Given the description of an element on the screen output the (x, y) to click on. 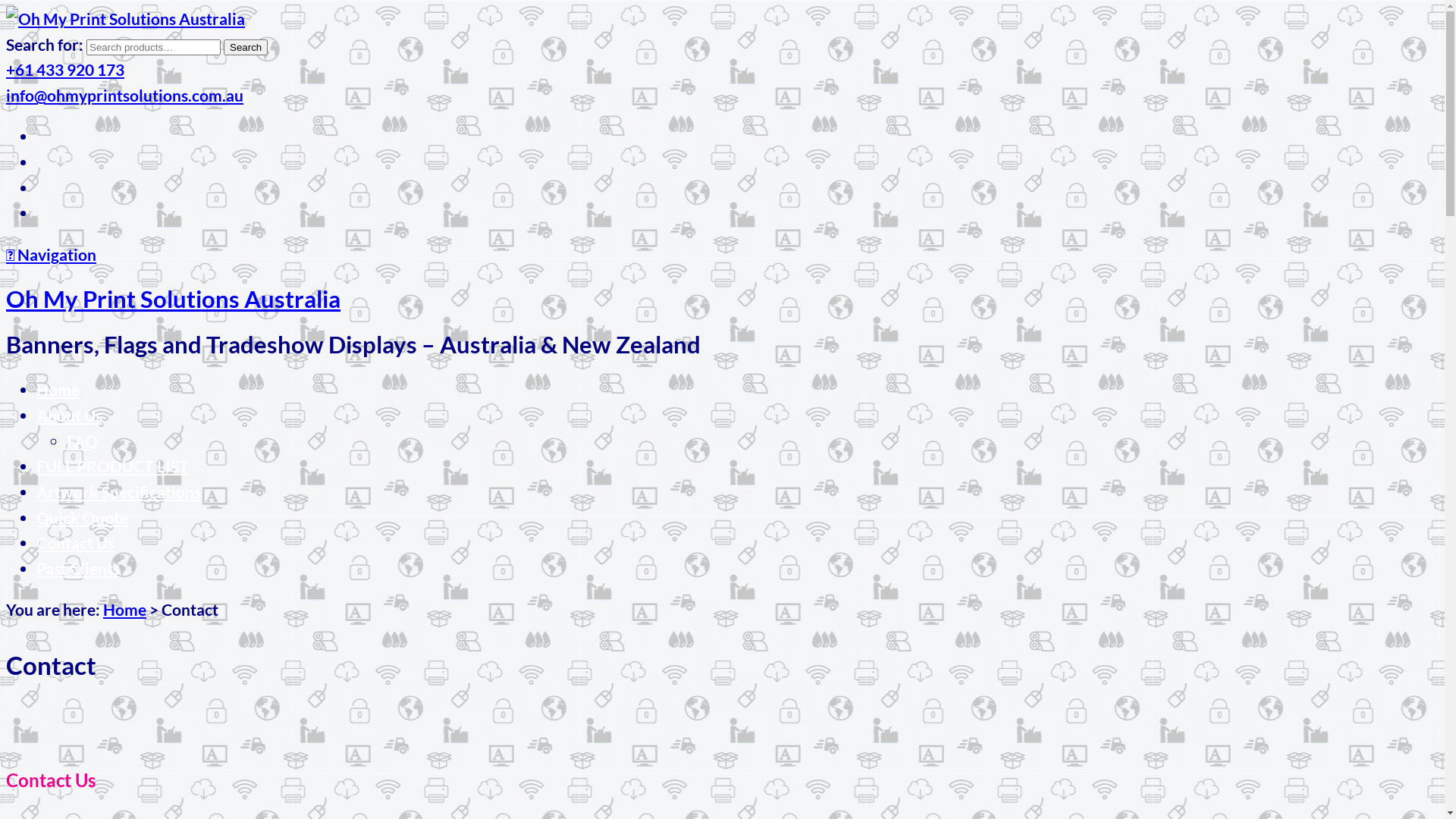
FULL PRODUCT LIST Element type: text (112, 465)
Artwork Specifications Element type: text (118, 491)
Contact Us Element type: text (75, 542)
+61 433 920 173 Element type: text (65, 68)
Quick Quote Element type: text (82, 517)
Oh My Print Solutions Australia Element type: text (173, 298)
FAQ Element type: text (81, 440)
Home Element type: text (57, 388)
Past Clients Element type: text (77, 567)
info@ohmyprintsolutions.com.au Element type: text (124, 94)
Search Element type: text (245, 47)
About Us Element type: text (69, 414)
Home Element type: text (124, 608)
